Given the description of an element on the screen output the (x, y) to click on. 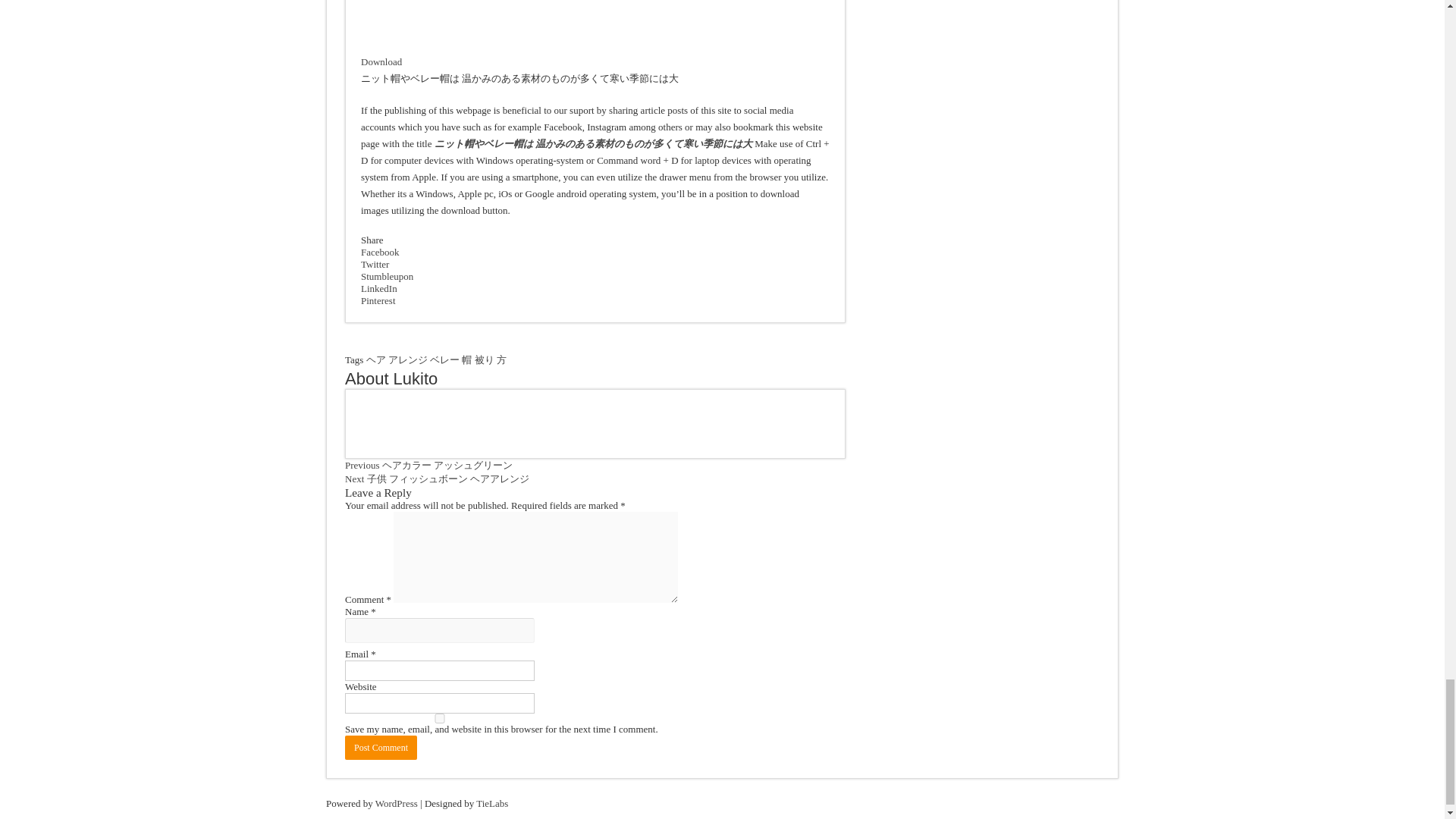
yes (439, 718)
Post Comment (380, 747)
